Given the description of an element on the screen output the (x, y) to click on. 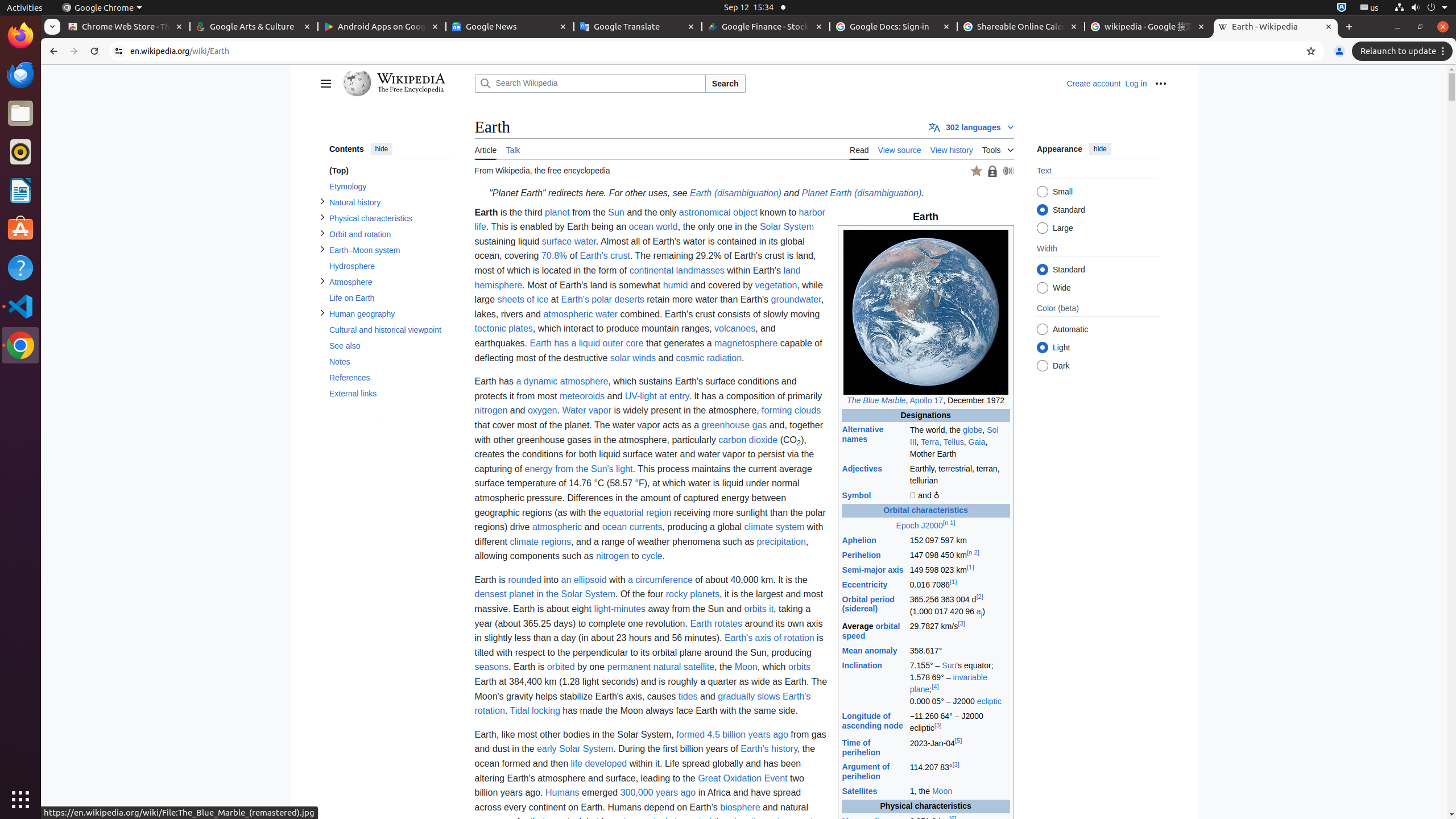
an ellipsoid Element type: link (583, 579)
life developed Element type: link (598, 763)
Orbital period (sidereal) Element type: link (867, 603)
Terra, Tellus Element type: link (942, 441)
Adjectives Element type: link (861, 468)
